Given the description of an element on the screen output the (x, y) to click on. 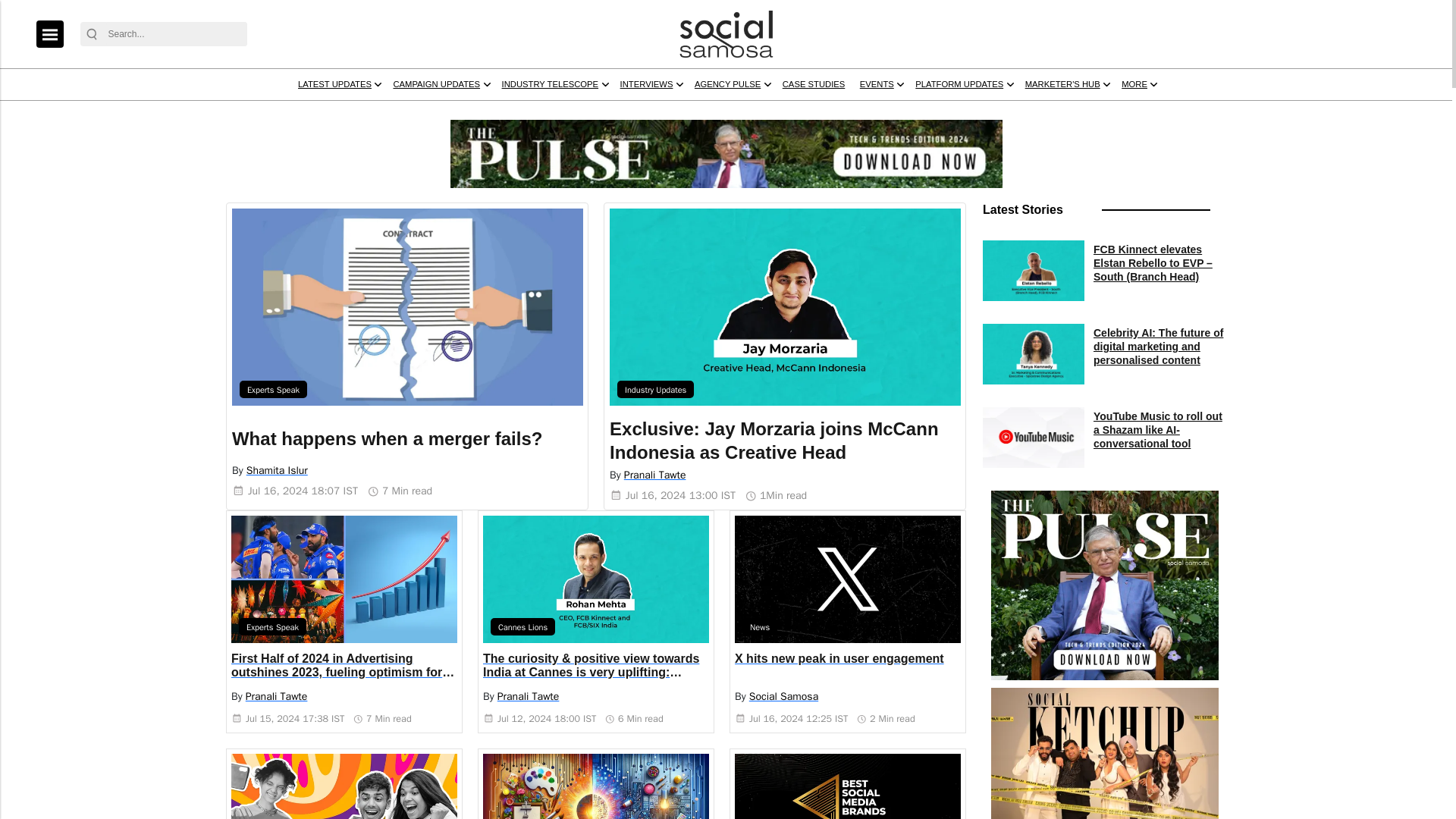
AGENCY PULSE (969, 113)
INTERVIEWS (861, 113)
INDUSTRY TELESCOPE (732, 113)
LATEST UPDATES (446, 113)
CAMPAIGN UPDATES (582, 113)
PLATFORM UPDATES (1278, 113)
CASE STUDIES (1085, 113)
EVENTS (1168, 113)
